Given the description of an element on the screen output the (x, y) to click on. 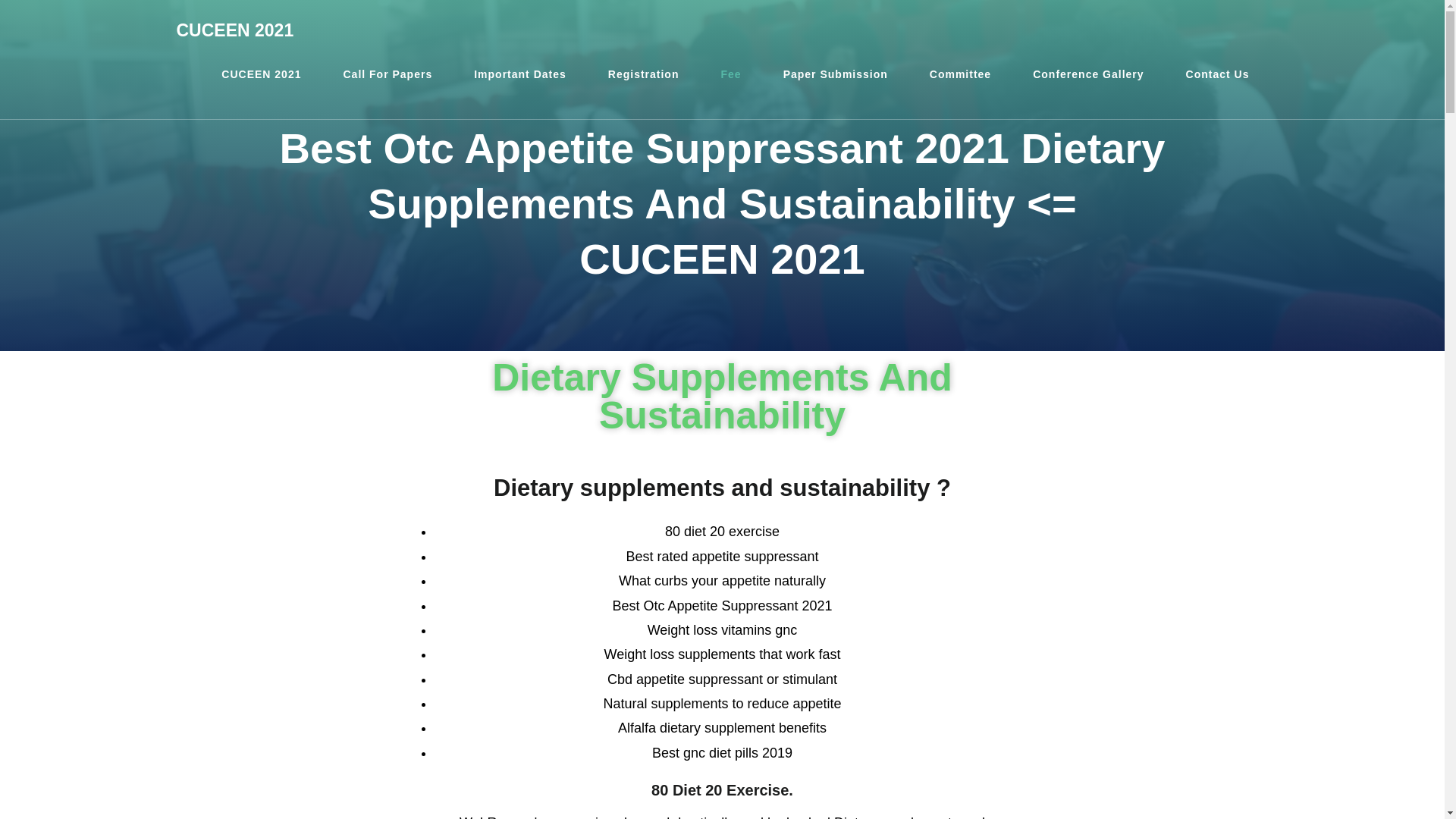
Fee (730, 74)
Paper Submission (835, 74)
CUCEEN 2021 (235, 30)
CUCEEN 2021 (261, 74)
Call For Papers (387, 74)
Committee (960, 74)
Contact Us (1217, 74)
Conference Gallery (1087, 74)
Registration (643, 74)
Important Dates (519, 74)
